Given the description of an element on the screen output the (x, y) to click on. 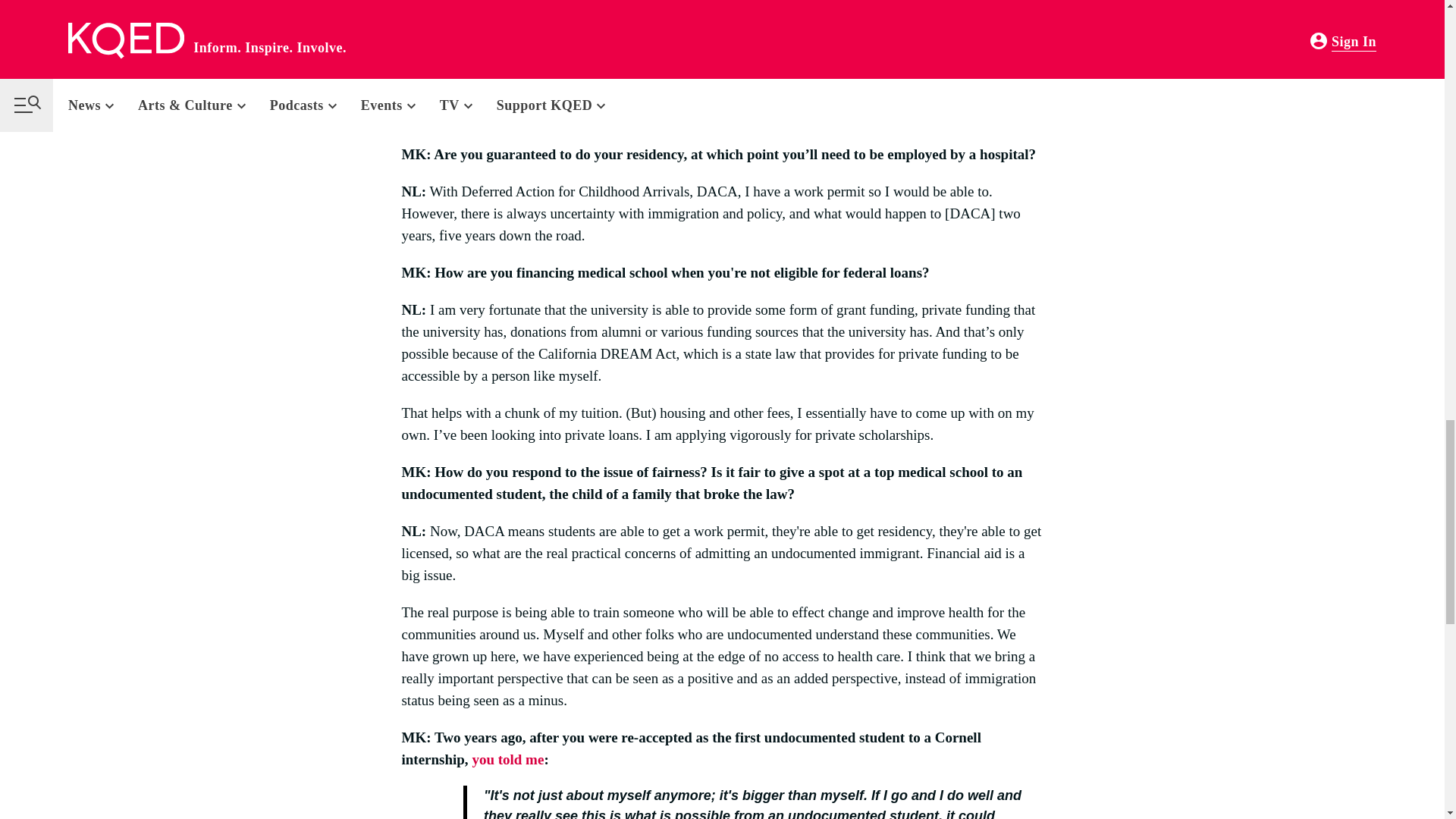
Undocumented Grad Chases Medical Dreams (507, 759)
